Given the description of an element on the screen output the (x, y) to click on. 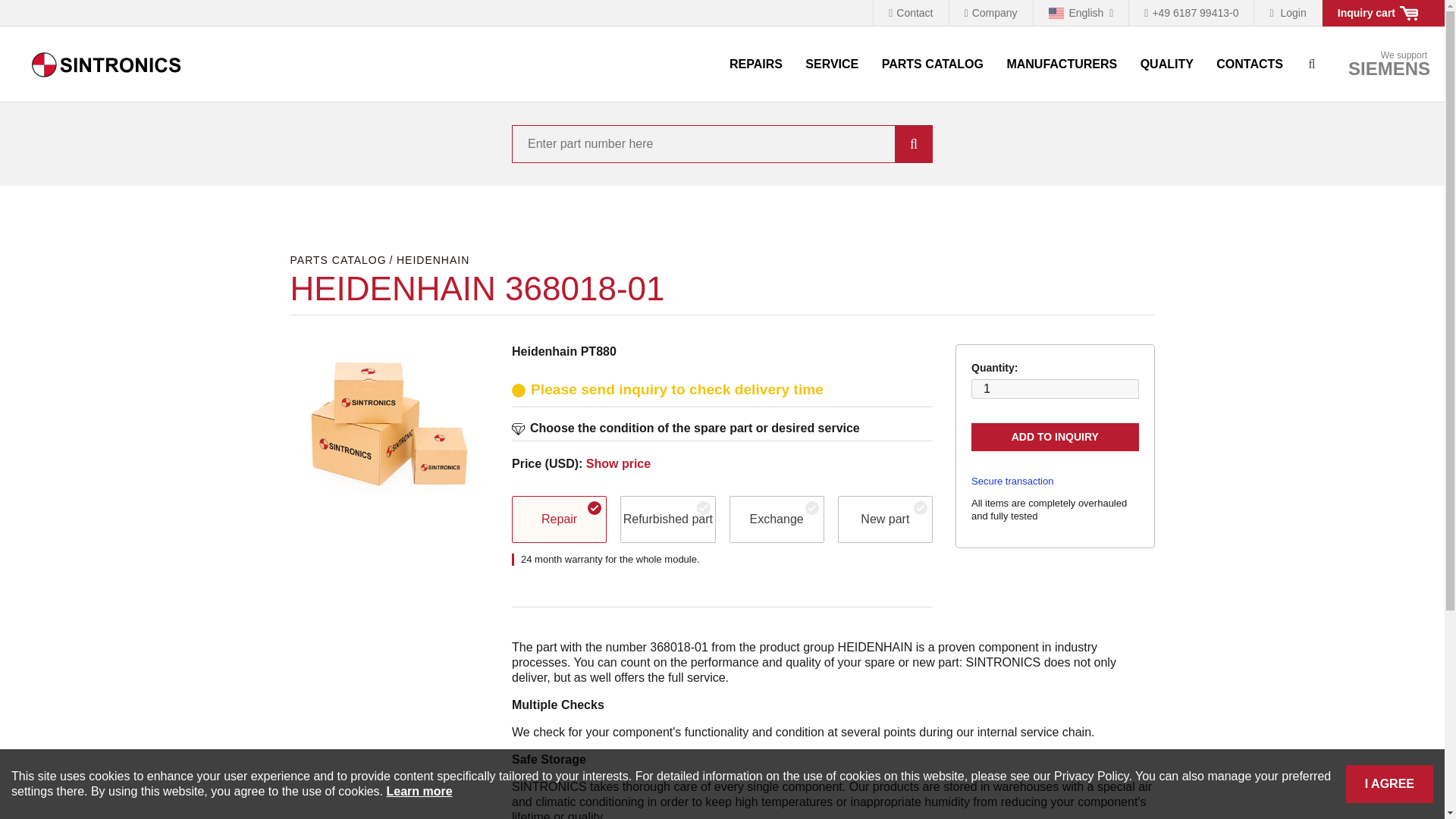
English  (1081, 13)
QUALITY (1167, 64)
REPAIRS (755, 64)
Add to inquiry (1054, 437)
Show price (1387, 64)
Add to inquiry (618, 463)
PARTS CATALOG (1054, 437)
HEIDENHAIN (932, 64)
SINTRONICS AMERICA (432, 260)
CONTACTS (105, 64)
PARTS CATALOG (1249, 64)
SERVICE (341, 260)
MANUFACTURERS (830, 64)
1 (1060, 64)
